Given the description of an element on the screen output the (x, y) to click on. 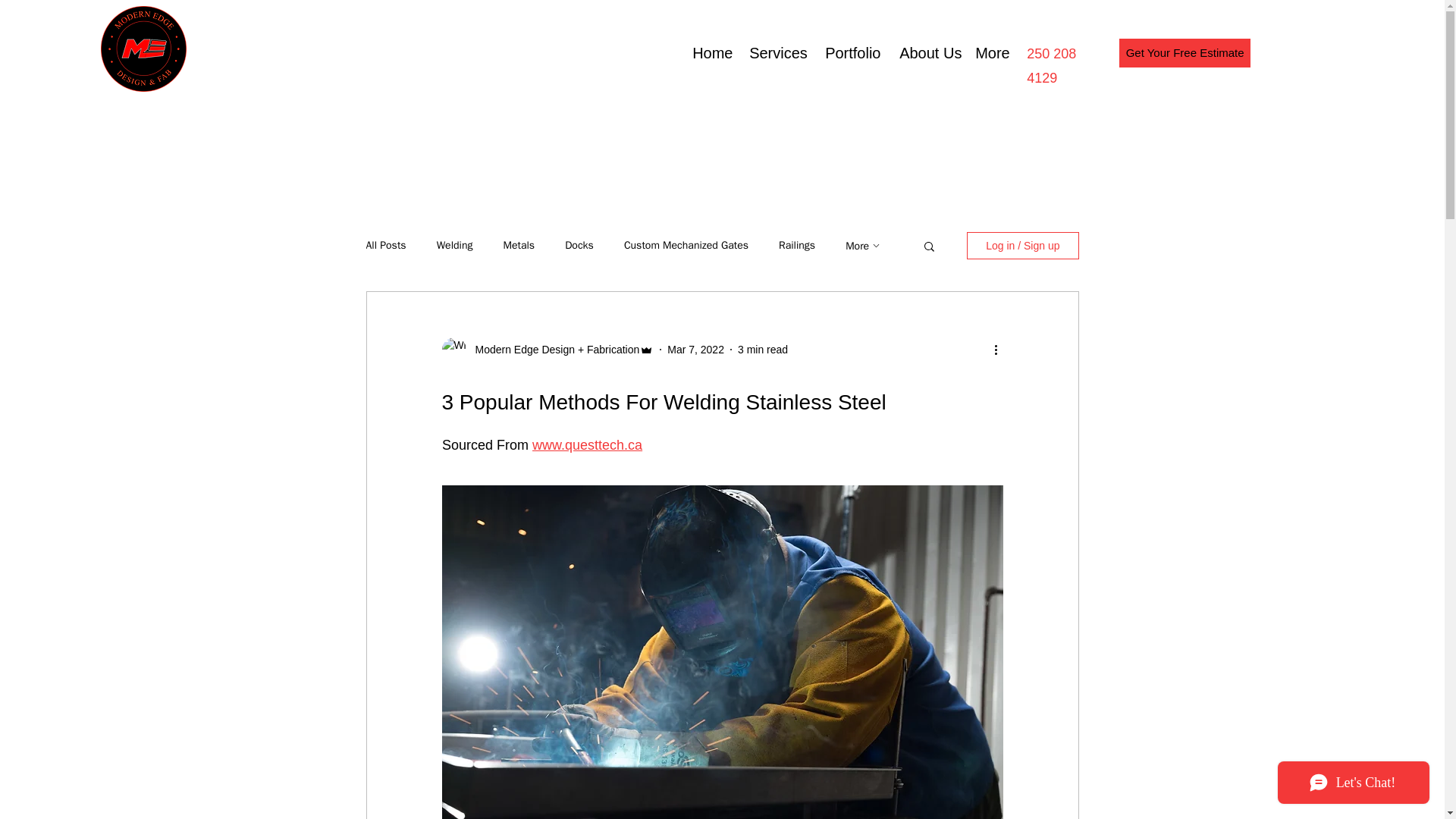
Get Your Free Estimate (1184, 52)
Welding (454, 245)
250 208 4129 (1050, 65)
www.questtech.ca (587, 444)
Portfolio (850, 52)
Metals (518, 245)
All Posts (385, 245)
Railings (796, 245)
Custom Mechanized Gates (686, 245)
Home (709, 52)
About Us (925, 52)
3 min read (762, 349)
Mar 7, 2022 (694, 349)
Services (775, 52)
Docks (579, 245)
